Given the description of an element on the screen output the (x, y) to click on. 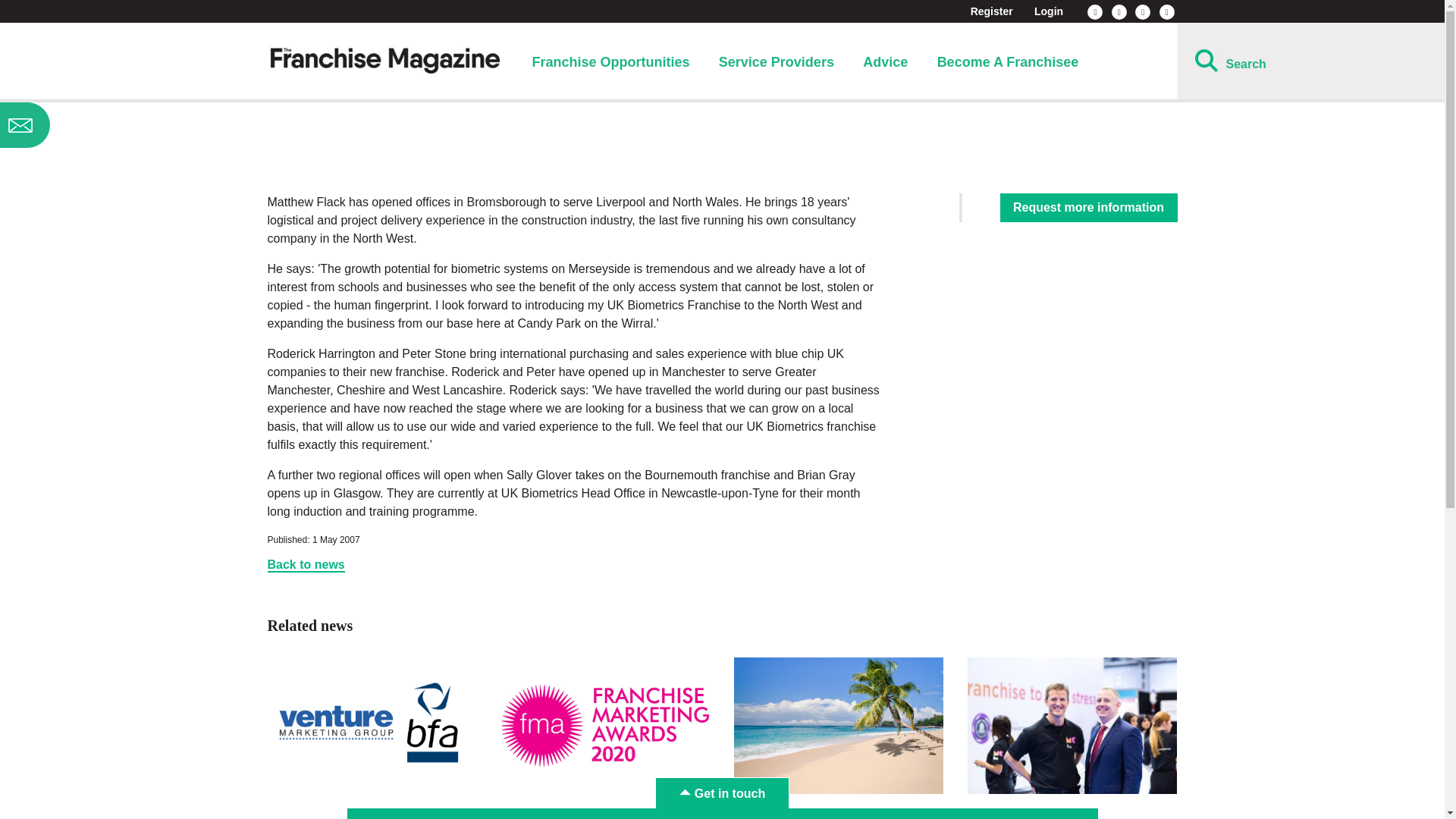
Sign up to the newsletter (120, 125)
Franchise Opportunities (609, 61)
Register (992, 10)
Login (1047, 10)
SignupModal (120, 125)
Login (1047, 10)
Become A Franchisee (1007, 61)
Service Providers (776, 61)
Advice (885, 61)
Service Providers (776, 61)
